Given the description of an element on the screen output the (x, y) to click on. 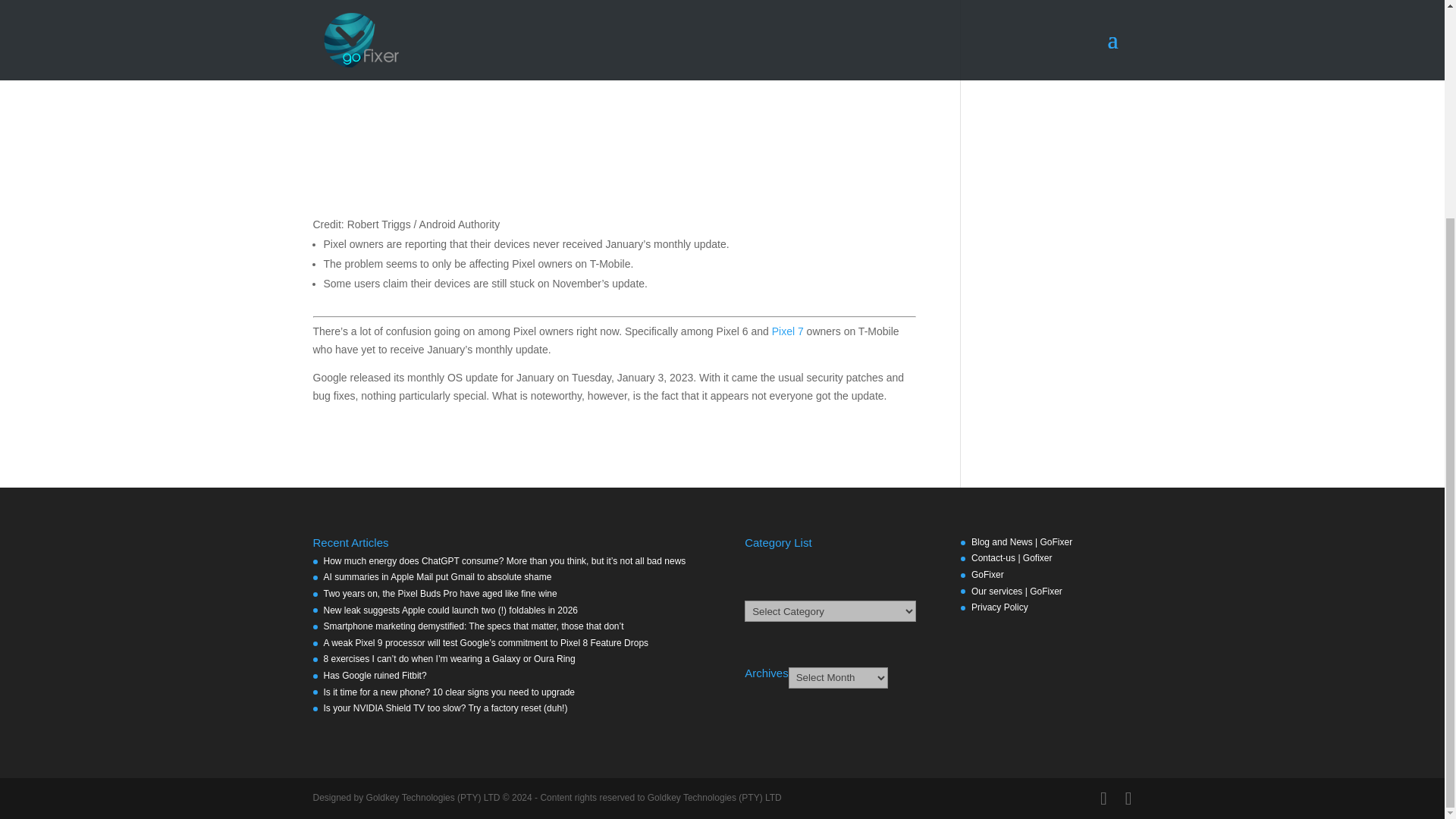
Pixel 7 (787, 331)
Has Google ruined Fitbit? (374, 675)
Two years on, the Pixel Buds Pro have aged like fine wine (439, 593)
Google Pixel 7 close on green wall (614, 102)
GoFixer (987, 574)
Privacy Policy (999, 606)
AI summaries in Apple Mail put Gmail to absolute shame (437, 576)
